Given the description of an element on the screen output the (x, y) to click on. 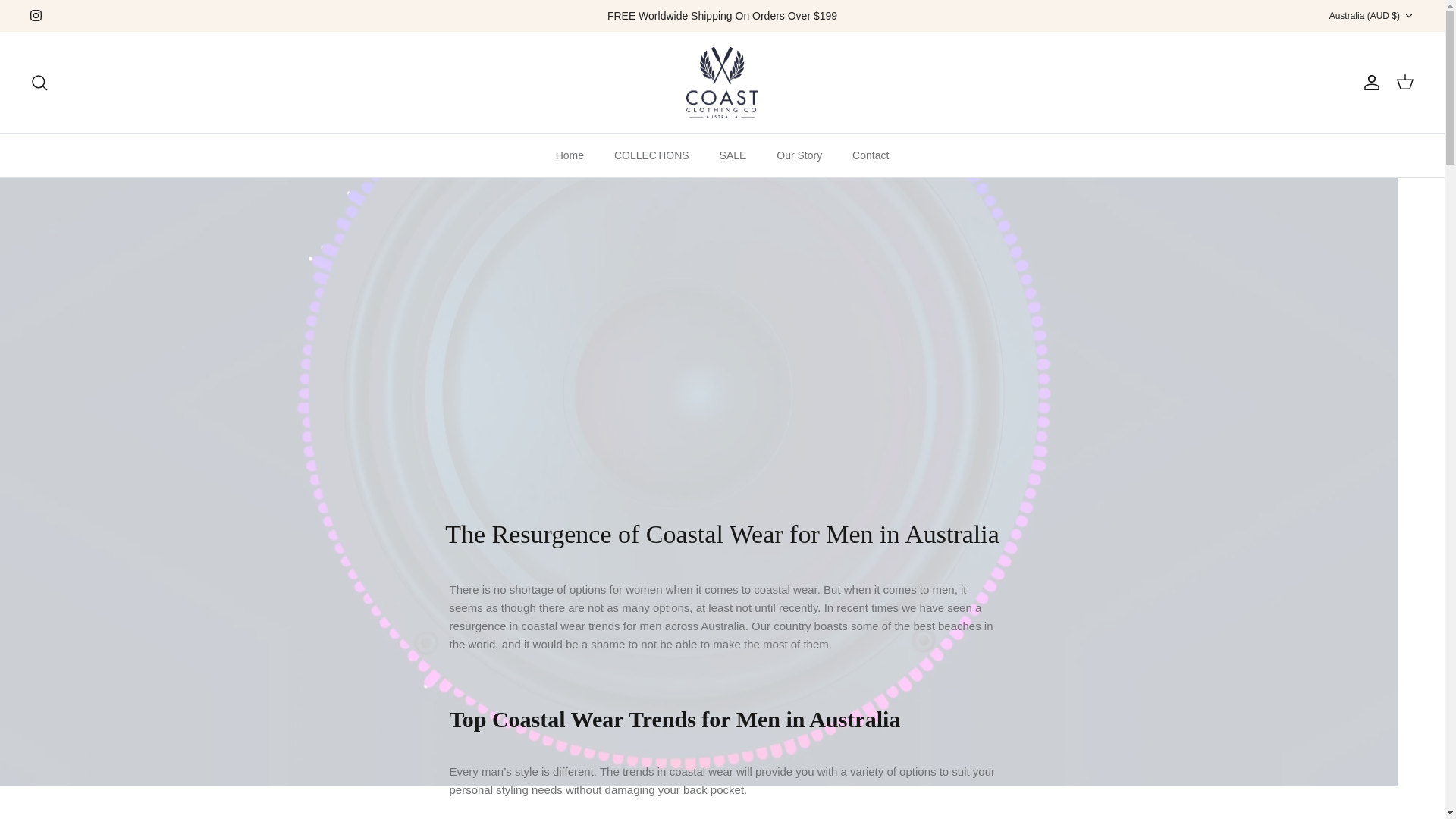
Instagram (36, 15)
Instagram (36, 15)
Coast Clothing Co (721, 82)
Down (1408, 15)
